Given the description of an element on the screen output the (x, y) to click on. 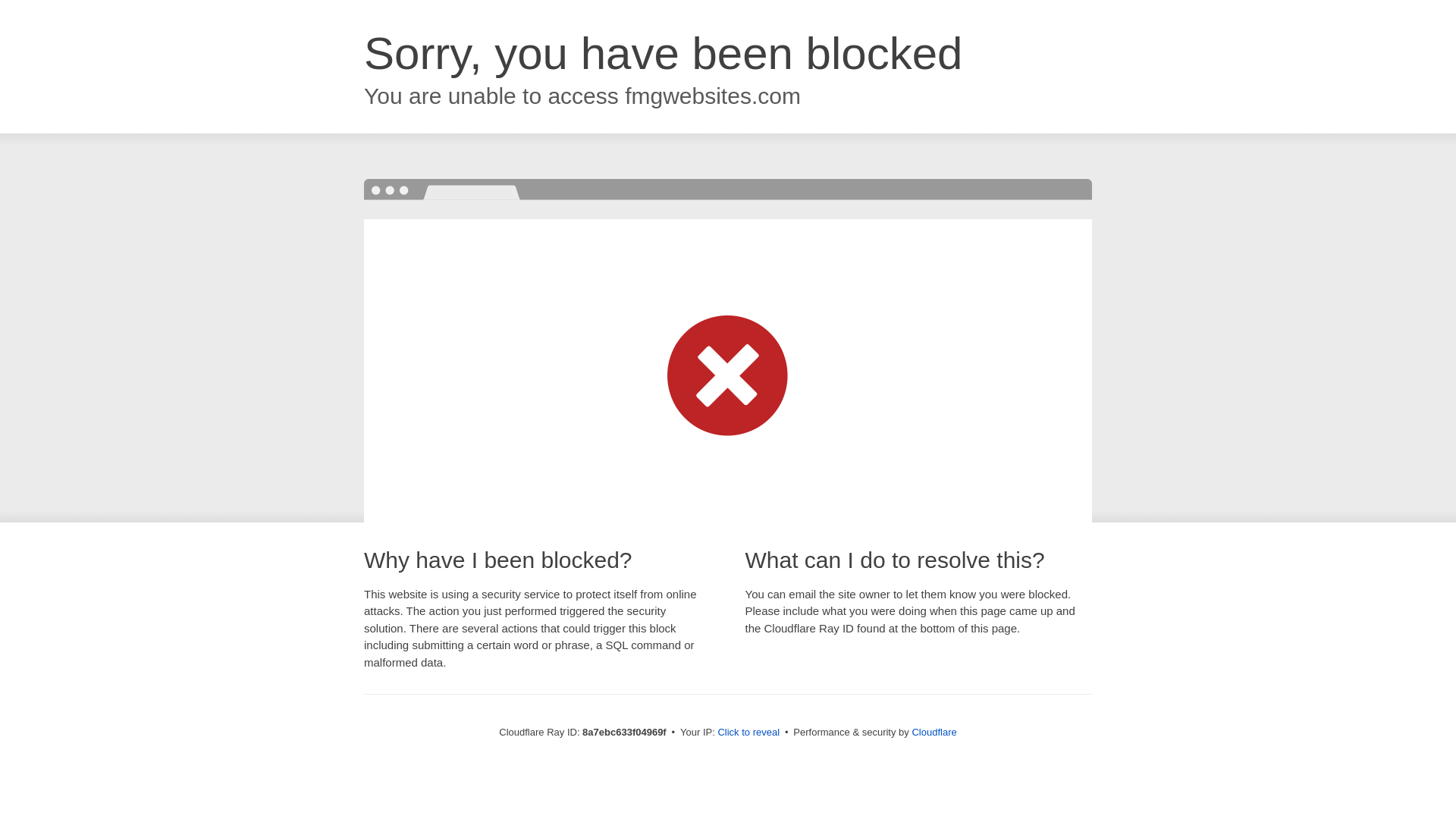
Cloudflare (933, 731)
Click to reveal (747, 732)
